Given the description of an element on the screen output the (x, y) to click on. 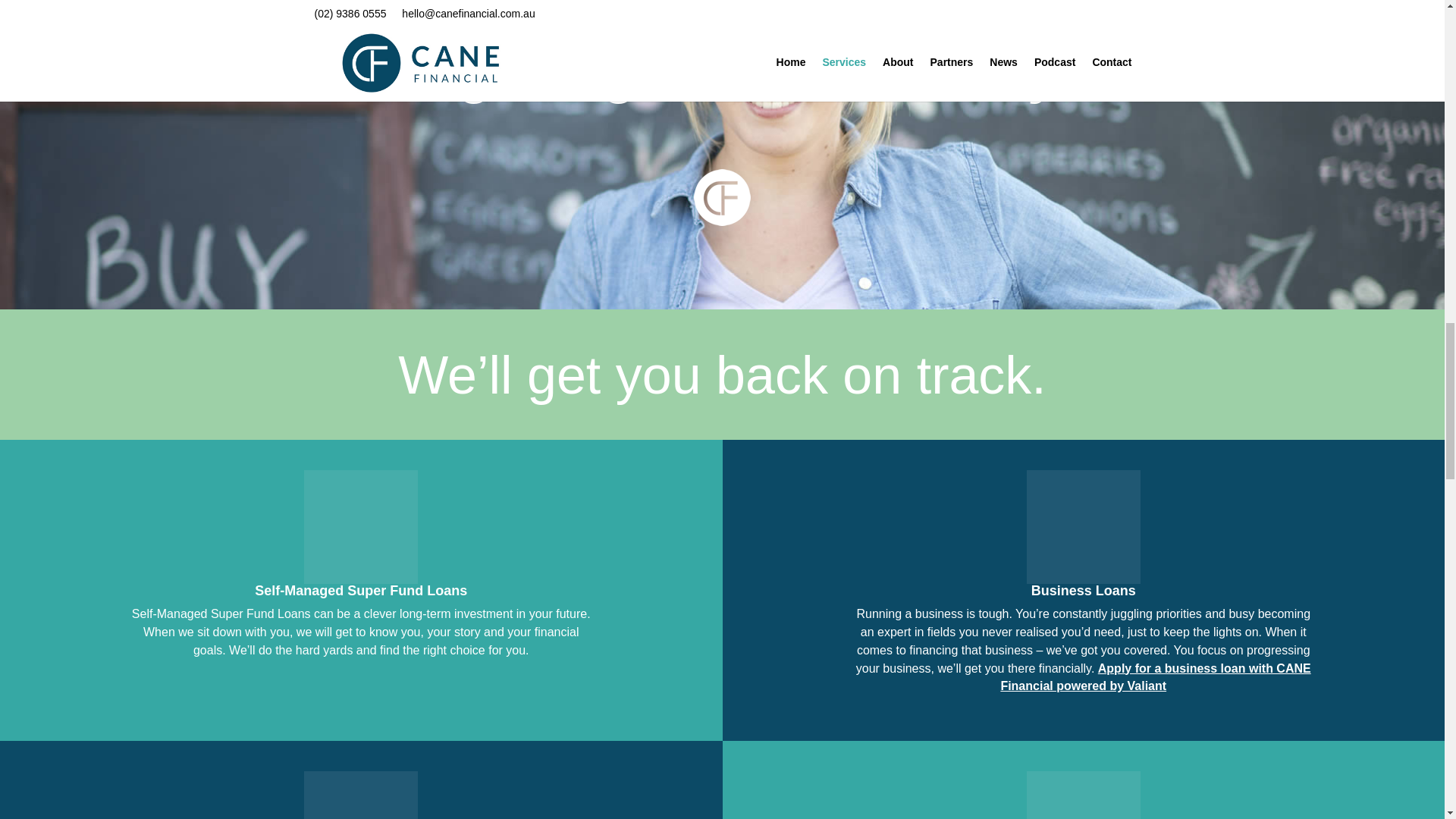
Page 4 (722, 375)
